Given the description of an element on the screen output the (x, y) to click on. 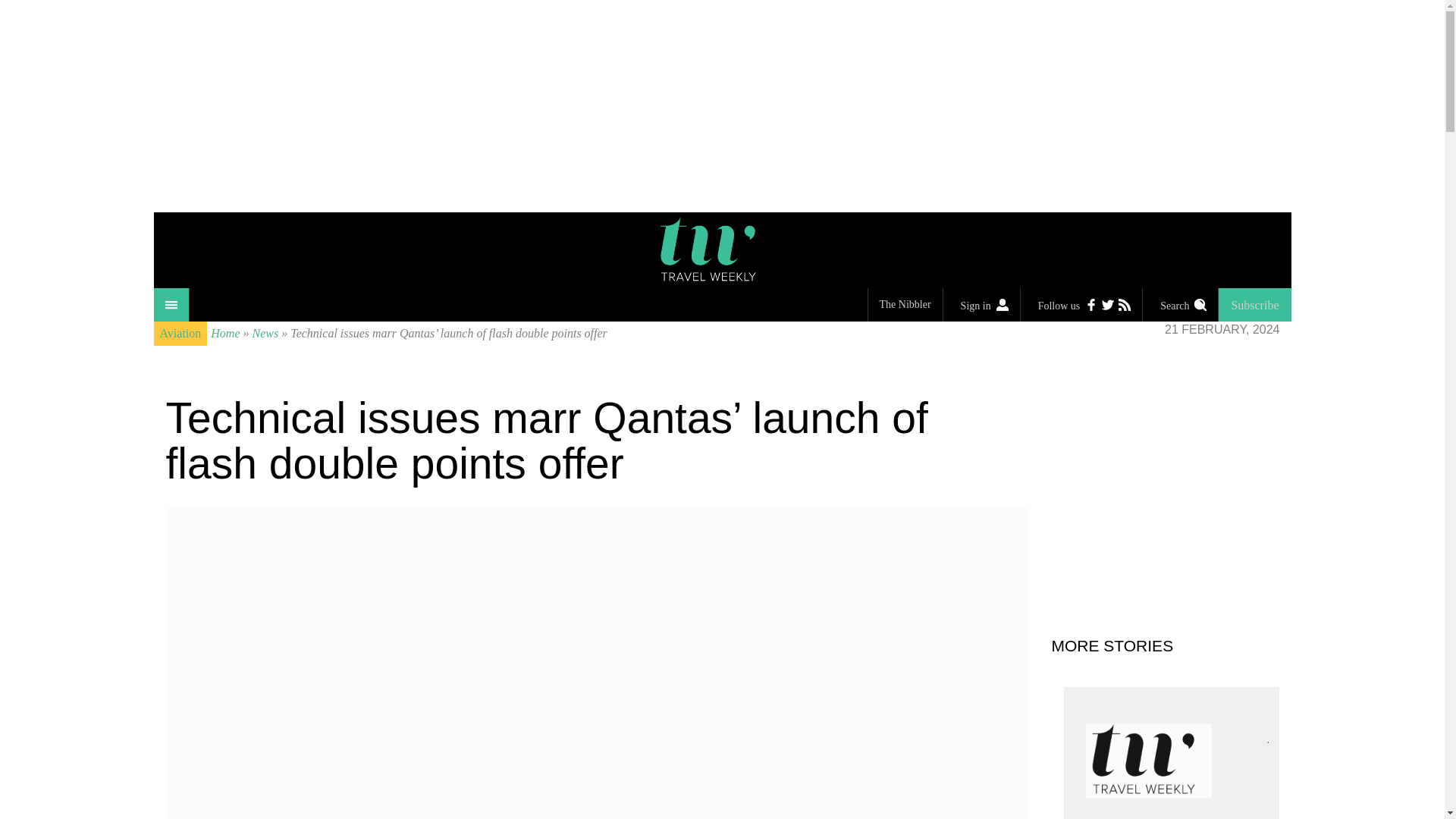
Sign in (981, 304)
The Nibbler (904, 304)
Search (1179, 304)
Follow us (1081, 304)
News (265, 332)
Home (225, 332)
Subscribe (1254, 304)
Aviation (179, 333)
